Given the description of an element on the screen output the (x, y) to click on. 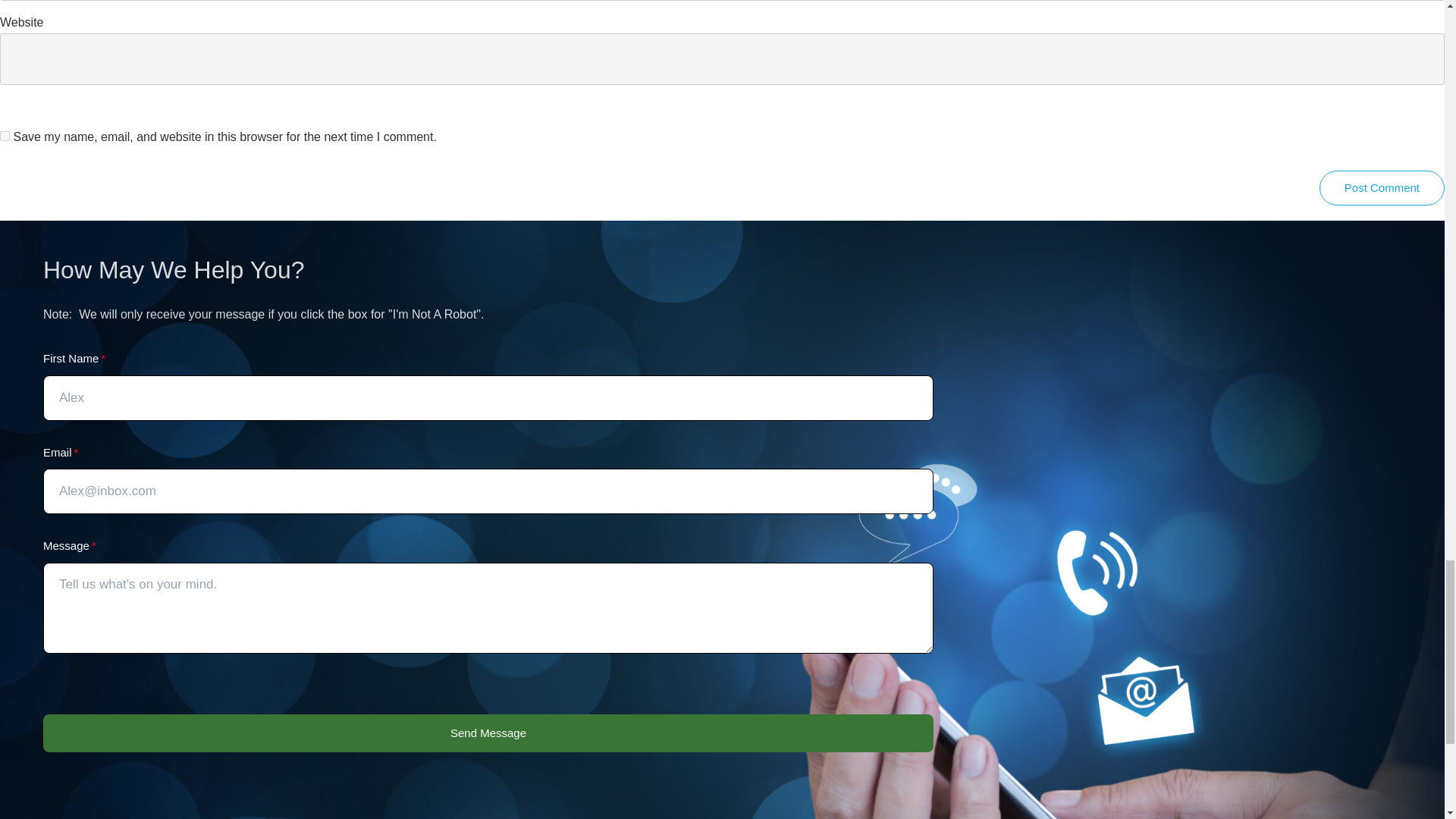
yes (5, 135)
